Given the description of an element on the screen output the (x, y) to click on. 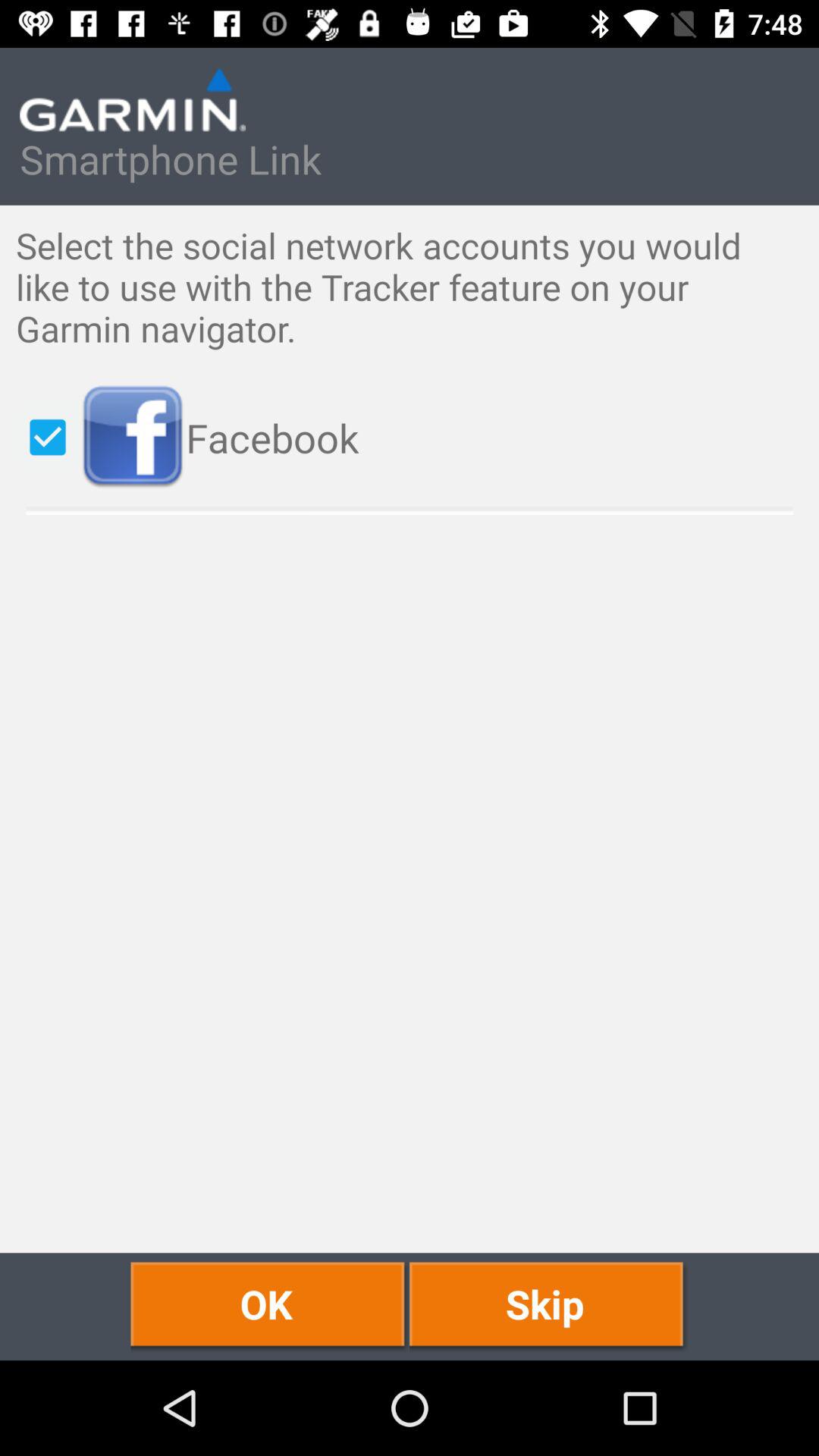
launch the icon above ok icon (441, 437)
